Given the description of an element on the screen output the (x, y) to click on. 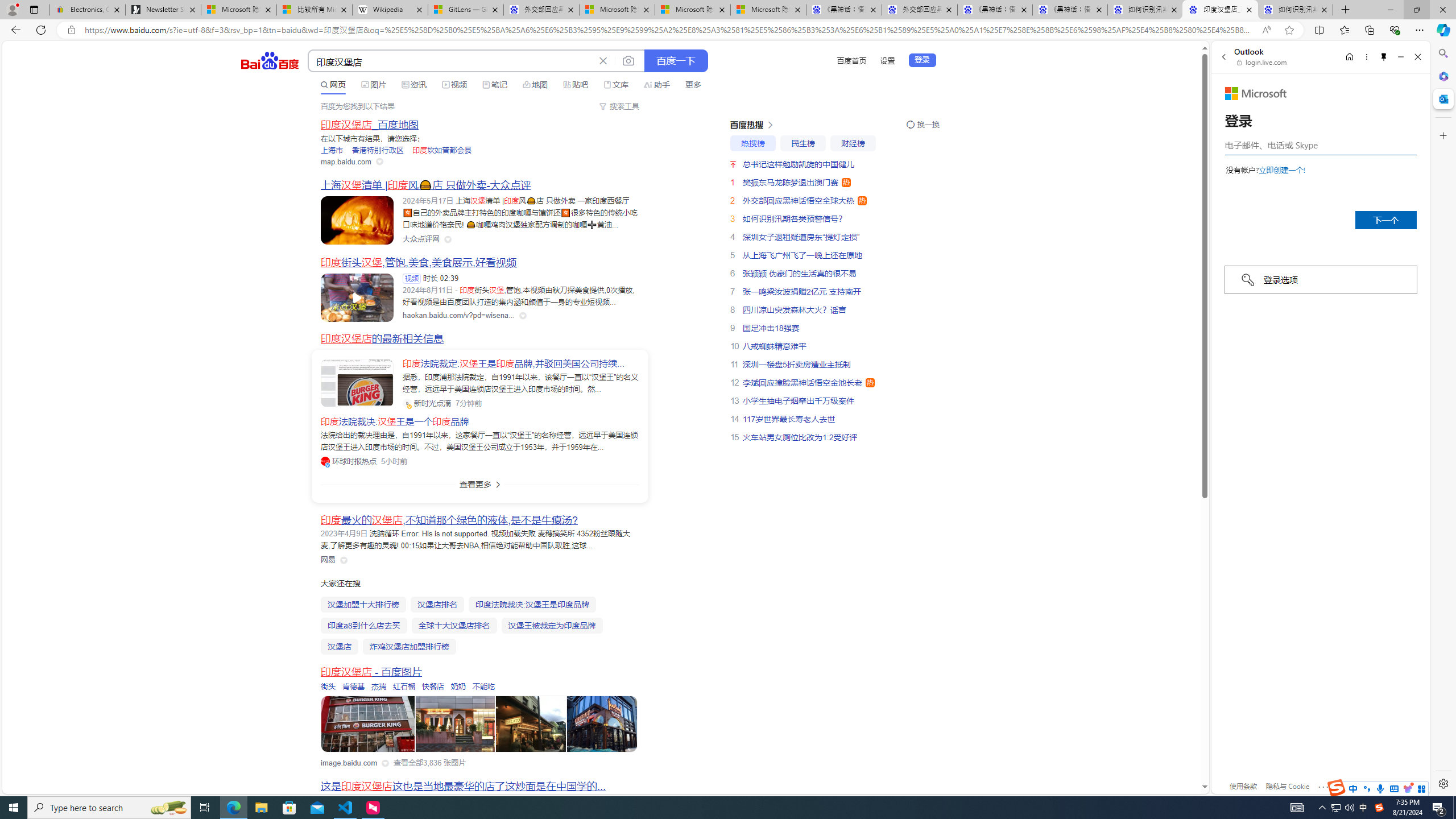
Newsletter Sign Up (162, 9)
Home (1348, 56)
